Given the description of an element on the screen output the (x, y) to click on. 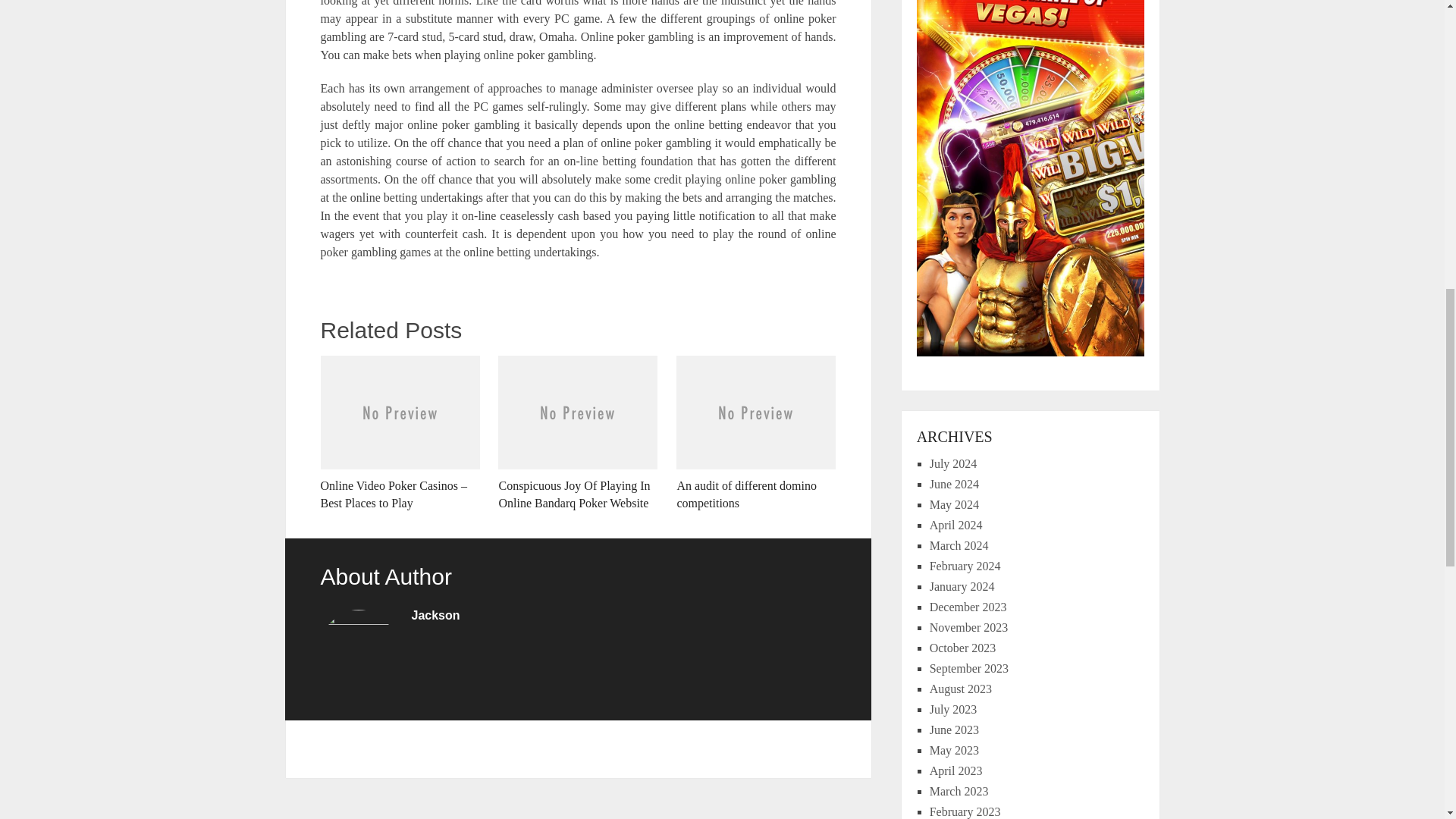
Conspicuous Joy Of Playing In Online Bandarq Poker Website (577, 433)
October 2023 (962, 647)
May 2024 (954, 504)
July 2024 (953, 463)
March 2024 (959, 545)
December 2023 (968, 606)
An audit of different domino competitions (756, 433)
Conspicuous Joy Of Playing In Online Bandarq Poker Website (577, 433)
An audit of different domino competitions (756, 433)
July 2023 (953, 708)
February 2024 (965, 565)
June 2024 (954, 483)
September 2023 (969, 667)
August 2023 (960, 688)
April 2024 (956, 524)
